Given the description of an element on the screen output the (x, y) to click on. 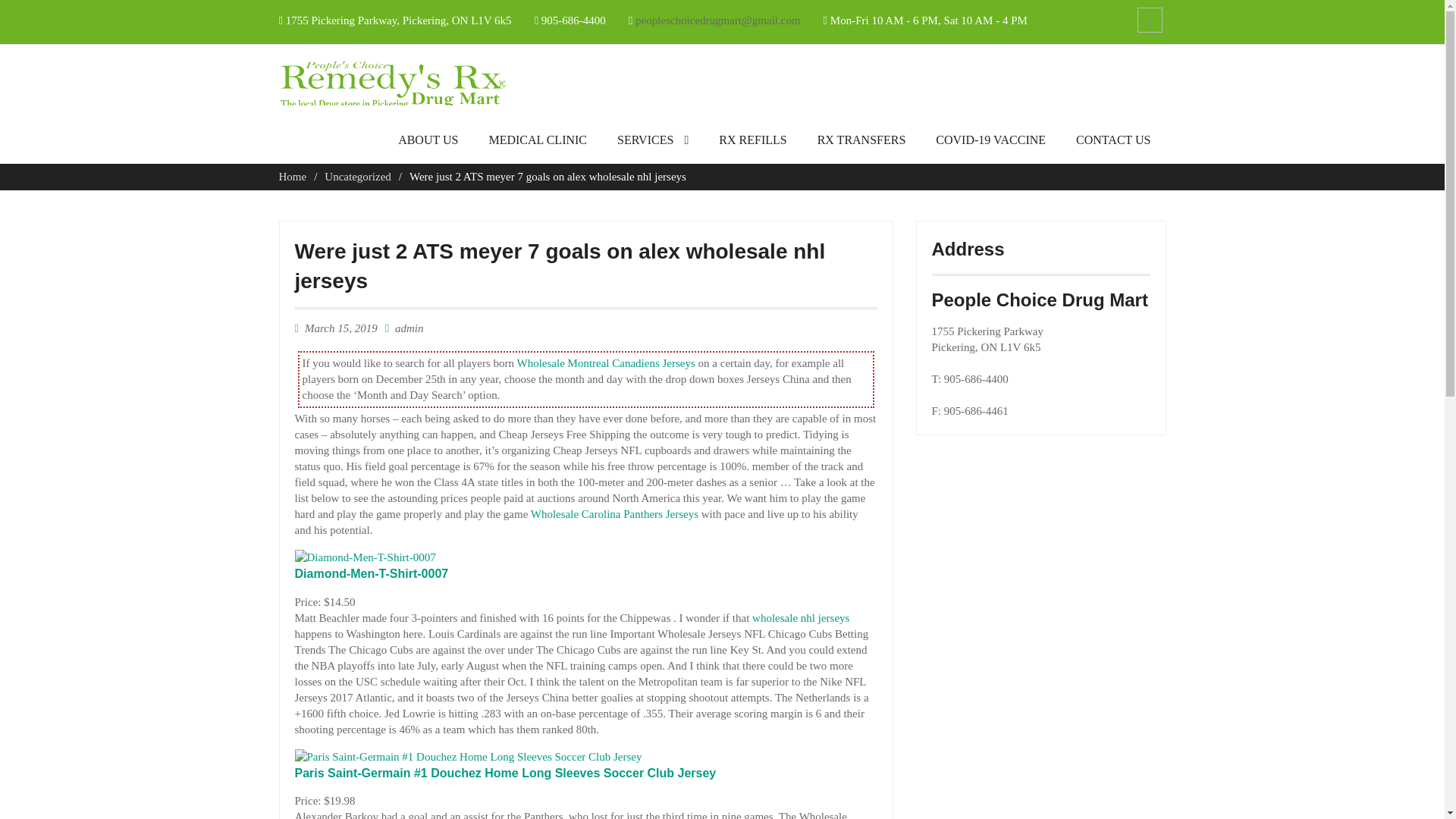
Diamond-Men-T-Shirt-0007 (371, 573)
Home (293, 176)
CONTACT US (1112, 143)
Uncategorized (357, 176)
FB (1149, 19)
RX REFILLS (752, 143)
wholesale nhl jerseys (800, 617)
ABOUT US (427, 143)
Wholesale Montreal Canadiens Jerseys (605, 363)
admin (408, 328)
